Given the description of an element on the screen output the (x, y) to click on. 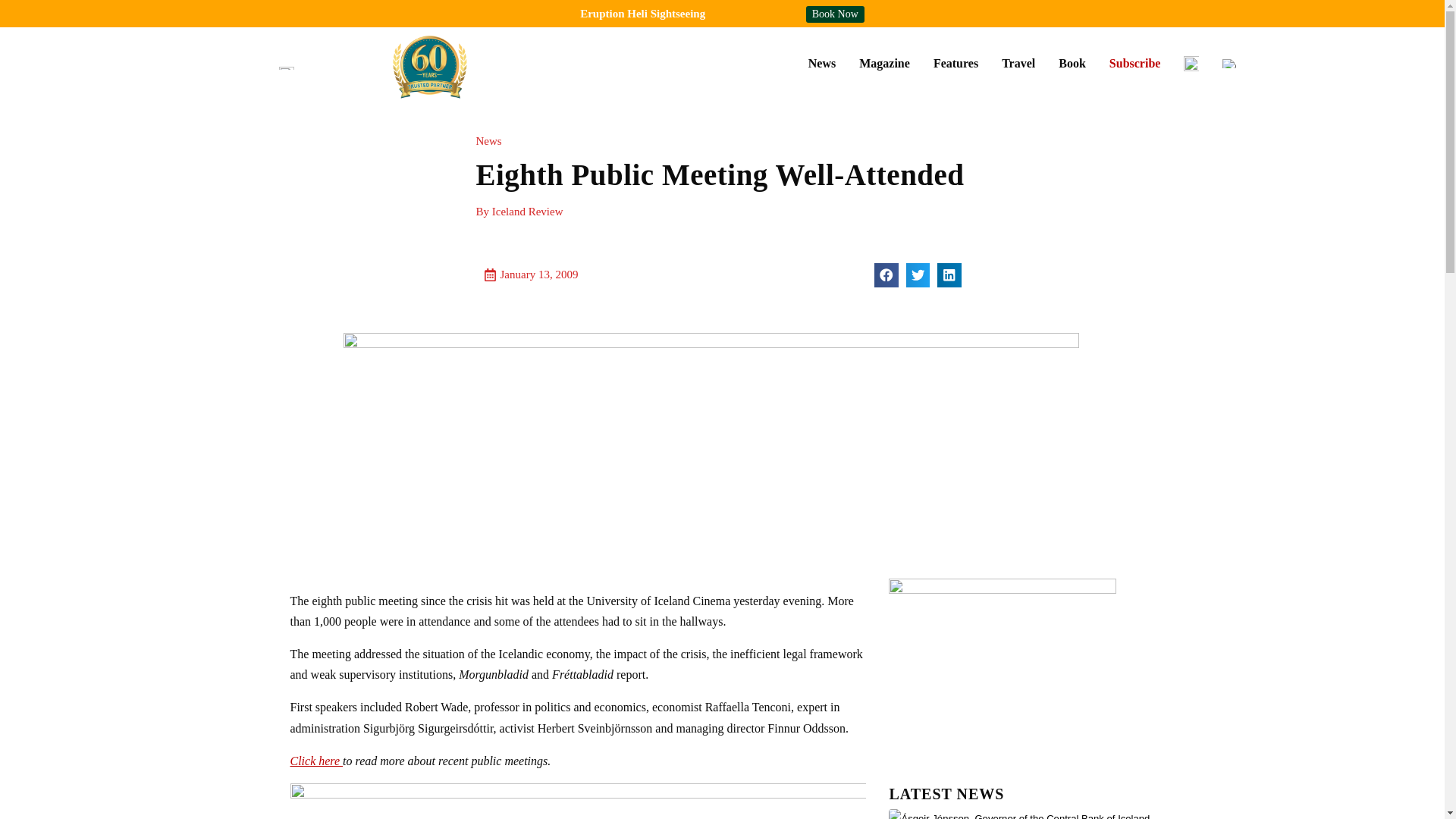
Eruption Heli Sightseeing (641, 13)
Subscribe (1134, 63)
News (821, 63)
Book Now (835, 13)
Book (1071, 63)
Features (955, 63)
Travel (1018, 63)
Magazine (884, 63)
